Given the description of an element on the screen output the (x, y) to click on. 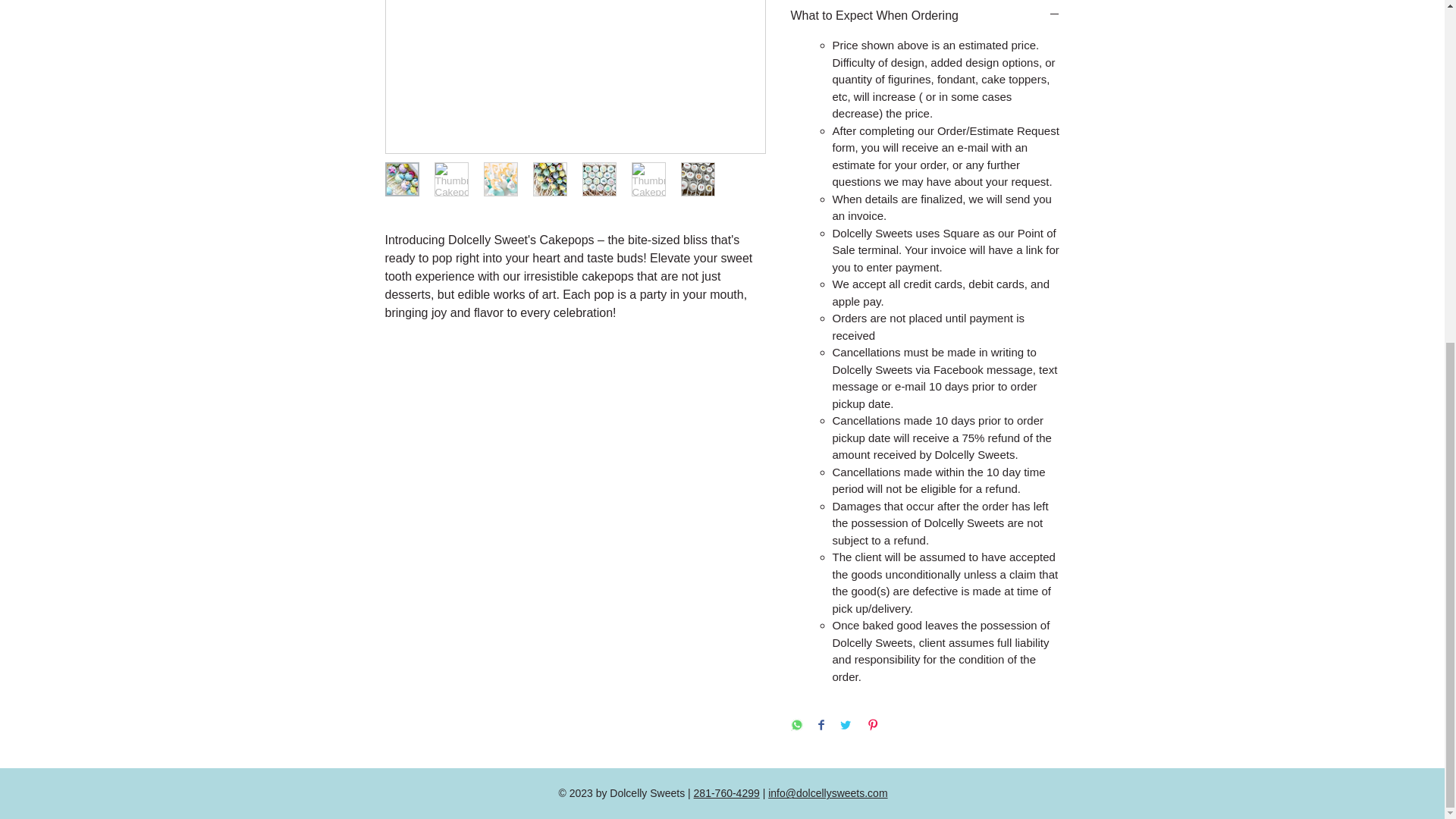
What to Expect When Ordering (924, 15)
281-760-4299 (727, 793)
